Given the description of an element on the screen output the (x, y) to click on. 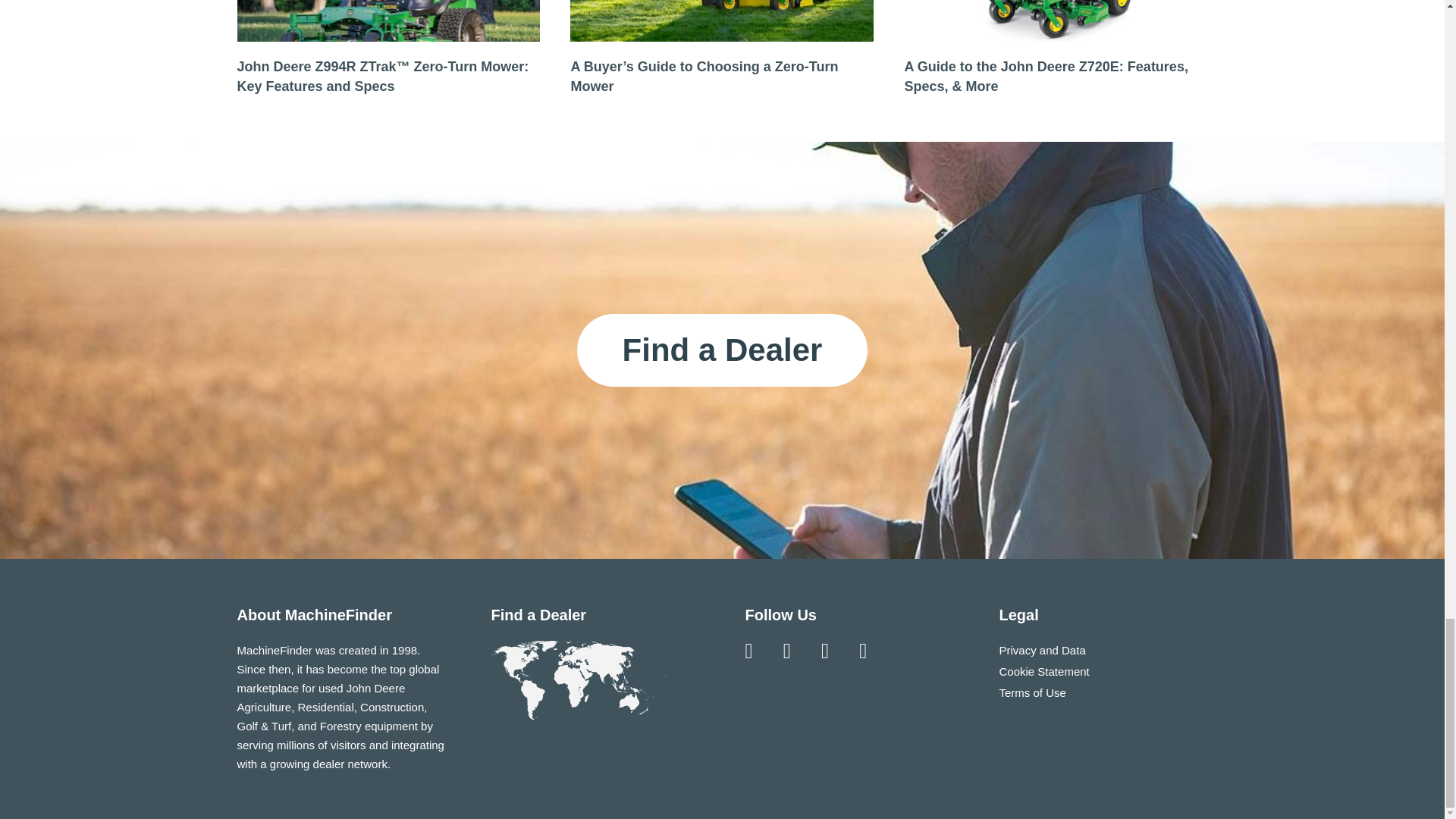
Facebook (748, 650)
Instagram (786, 650)
Find a Dealer (721, 349)
Twitter (824, 650)
